Given the description of an element on the screen output the (x, y) to click on. 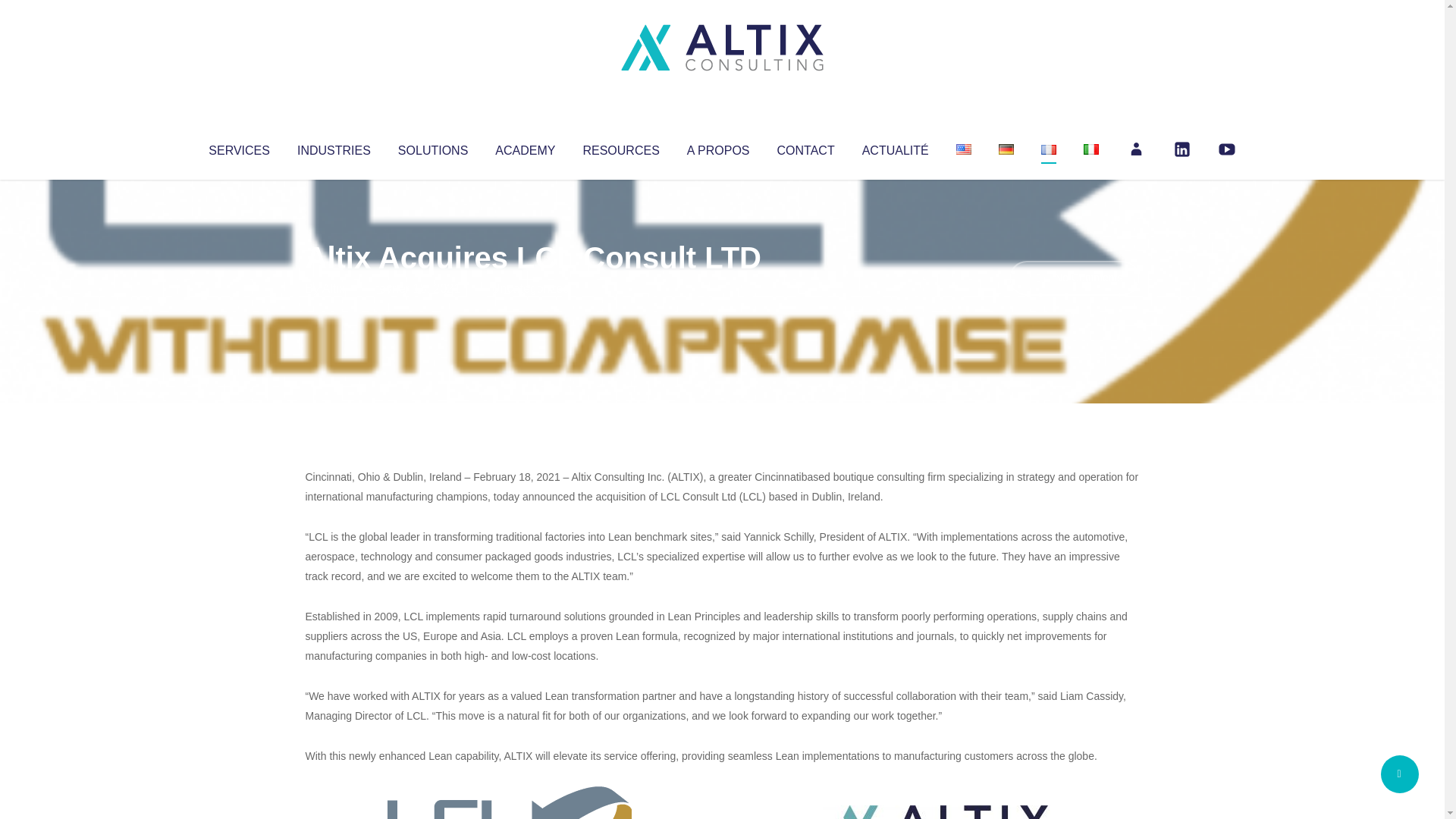
SOLUTIONS (432, 146)
A PROPOS (718, 146)
ACADEMY (524, 146)
SERVICES (238, 146)
INDUSTRIES (334, 146)
Uncategorized (530, 287)
No Comments (1073, 278)
RESOURCES (620, 146)
Articles par Altix (333, 287)
Altix (333, 287)
